Given the description of an element on the screen output the (x, y) to click on. 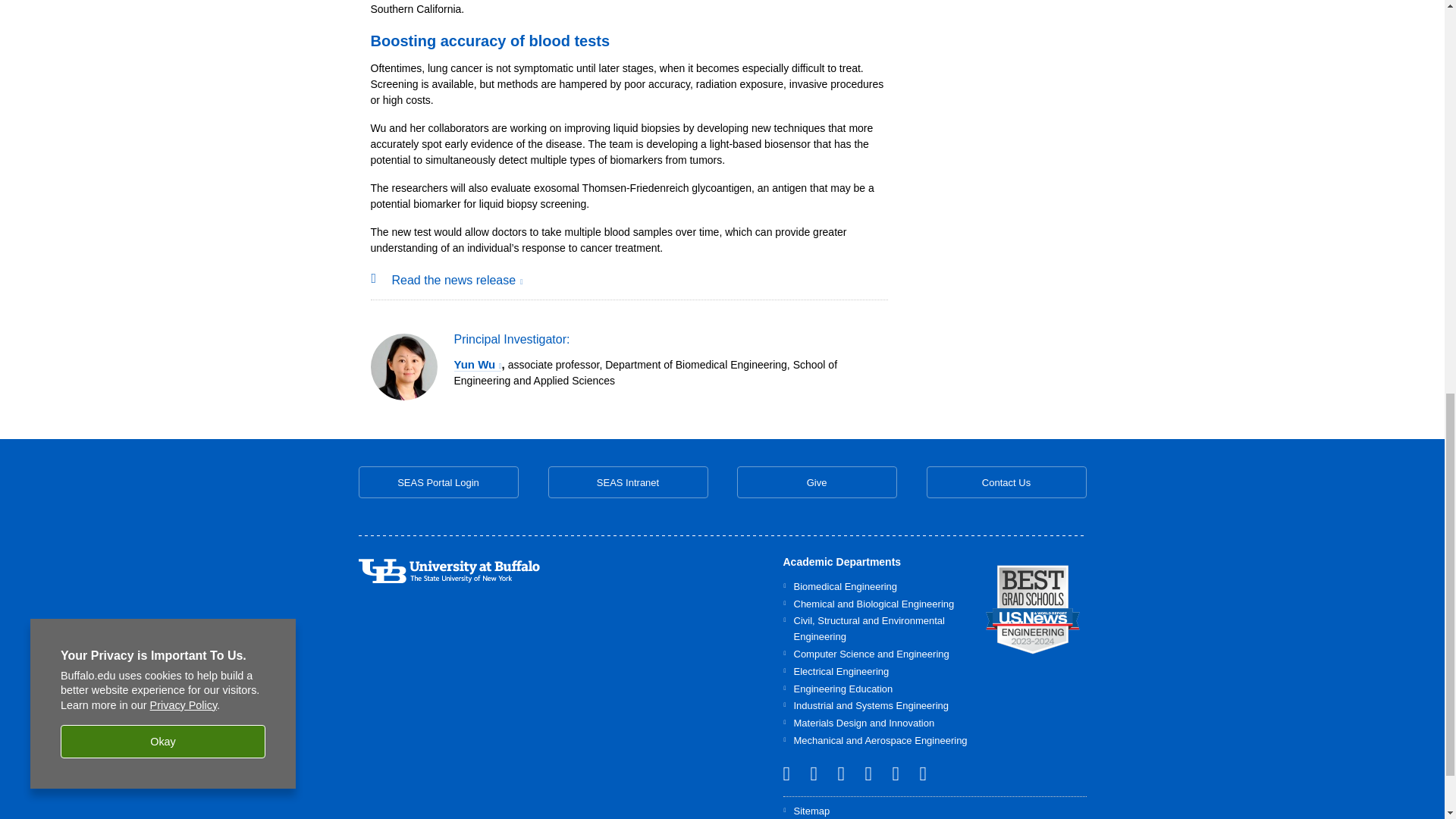
LinkedIn Icon (792, 772)
Instagram Icon (847, 772)
Facebook Icon (901, 772)
X Icon (819, 772)
This link opens a page in a new window or tab. (456, 279)
This link opens a page in a new window or tab. (1032, 609)
YouTube Icon (873, 772)
This link opens a page in a new window or tab. (476, 364)
